Given the description of an element on the screen output the (x, y) to click on. 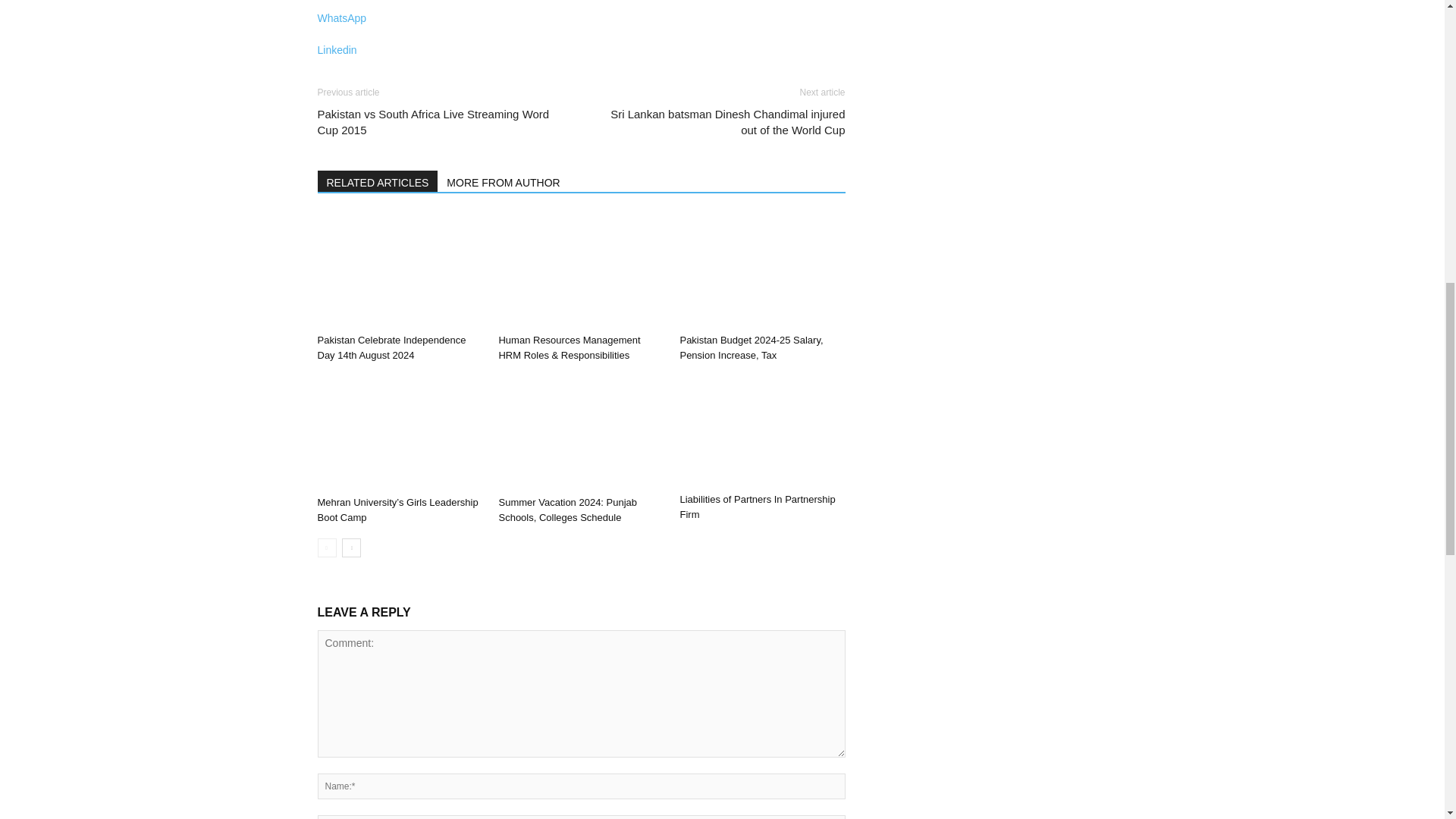
Pakistan Budget 2024-25 Salary, Pension Increase, Tax (761, 270)
MORE FROM AUTHOR (503, 180)
Pakistan Celebrate Independence Day 14th August 2024 (391, 347)
Pakistan Budget 2024-25 Salary, Pension Increase, Tax (750, 347)
More (580, 76)
Pakistan Celebrate Independence Day 14th August 2024 (399, 270)
Linkedin (580, 42)
WhatsApp (580, 13)
Linkedin (580, 42)
Pakistan vs South Africa Live Streaming Word Cup 2015 (439, 122)
